Given the description of an element on the screen output the (x, y) to click on. 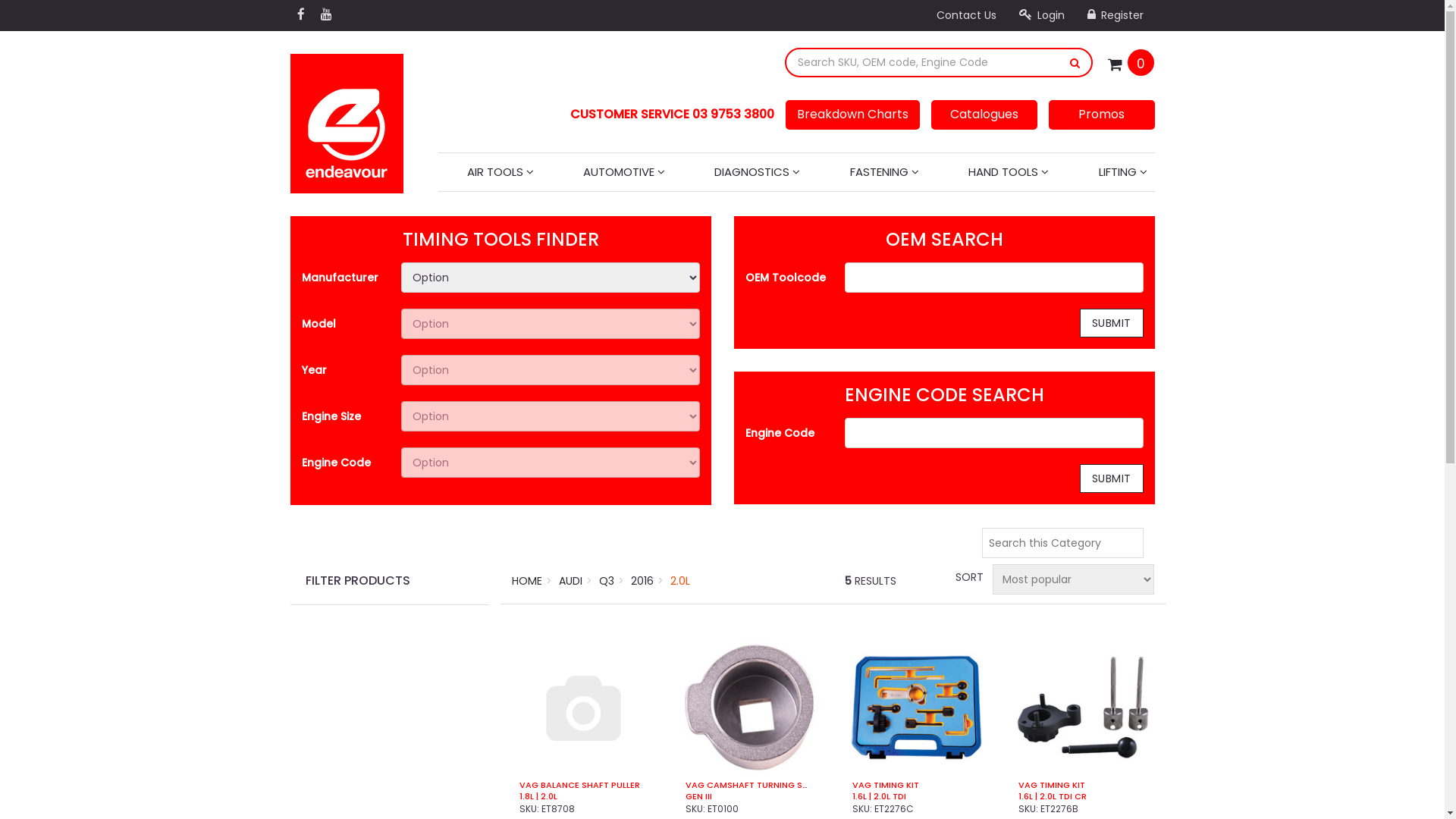
1.6L | 2.0L TDI Element type: text (916, 796)
HAND TOOLS Element type: text (1008, 172)
AUTOMOTIVE Element type: text (623, 172)
Submit Element type: text (25, 9)
VAG BALANCE SHAFT PULLER Element type: text (583, 784)
VAG CAMSHAFT TURNING SOCKET Element type: text (749, 784)
Breakdown Charts Element type: text (852, 114)
DIAGNOSTICS Element type: text (756, 172)
AUDI Element type: text (570, 580)
Contact Us Element type: text (966, 15)
Login Element type: text (1041, 15)
0 Element type: text (1140, 62)
FASTENING Element type: text (884, 172)
Register Element type: text (1114, 15)
1.6L | 2.0L TDI CR Element type: text (1082, 796)
Q3 Element type: text (606, 580)
VAG TIMING KIT Element type: text (916, 784)
2.0L Element type: text (680, 580)
GEN III Element type: text (749, 796)
HOME Element type: text (526, 580)
Search Element type: text (1075, 62)
1.8L | 2.0L Element type: text (583, 796)
Endeavour Tools Element type: hover (345, 118)
Catalogues Element type: text (984, 114)
Promos Element type: text (1101, 114)
AIR TOOLS Element type: text (500, 172)
2016 Element type: text (641, 580)
LIFTING Element type: text (1122, 172)
VAG TIMING KIT Element type: text (1082, 784)
